Given the description of an element on the screen output the (x, y) to click on. 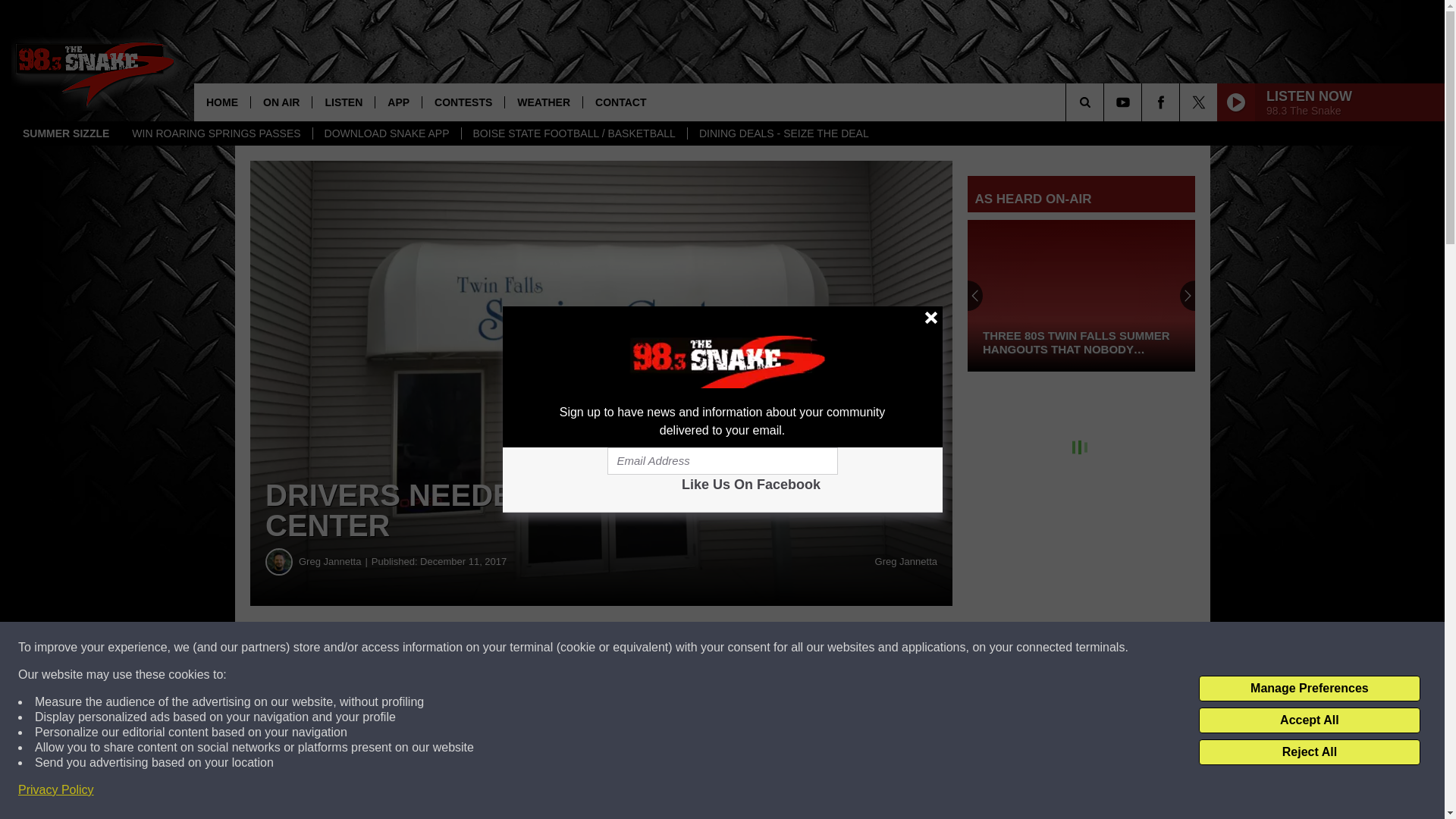
Manage Preferences (1309, 688)
Accept All (1309, 720)
Reject All (1309, 751)
Share on Twitter (741, 647)
SEARCH (1106, 102)
Email Address (722, 461)
HOME (221, 102)
ON AIR (280, 102)
Privacy Policy (55, 789)
Share on Facebook (460, 647)
APP (398, 102)
WEATHER (542, 102)
LISTEN (342, 102)
SUMMER SIZZLE (65, 133)
CONTESTS (462, 102)
